Given the description of an element on the screen output the (x, y) to click on. 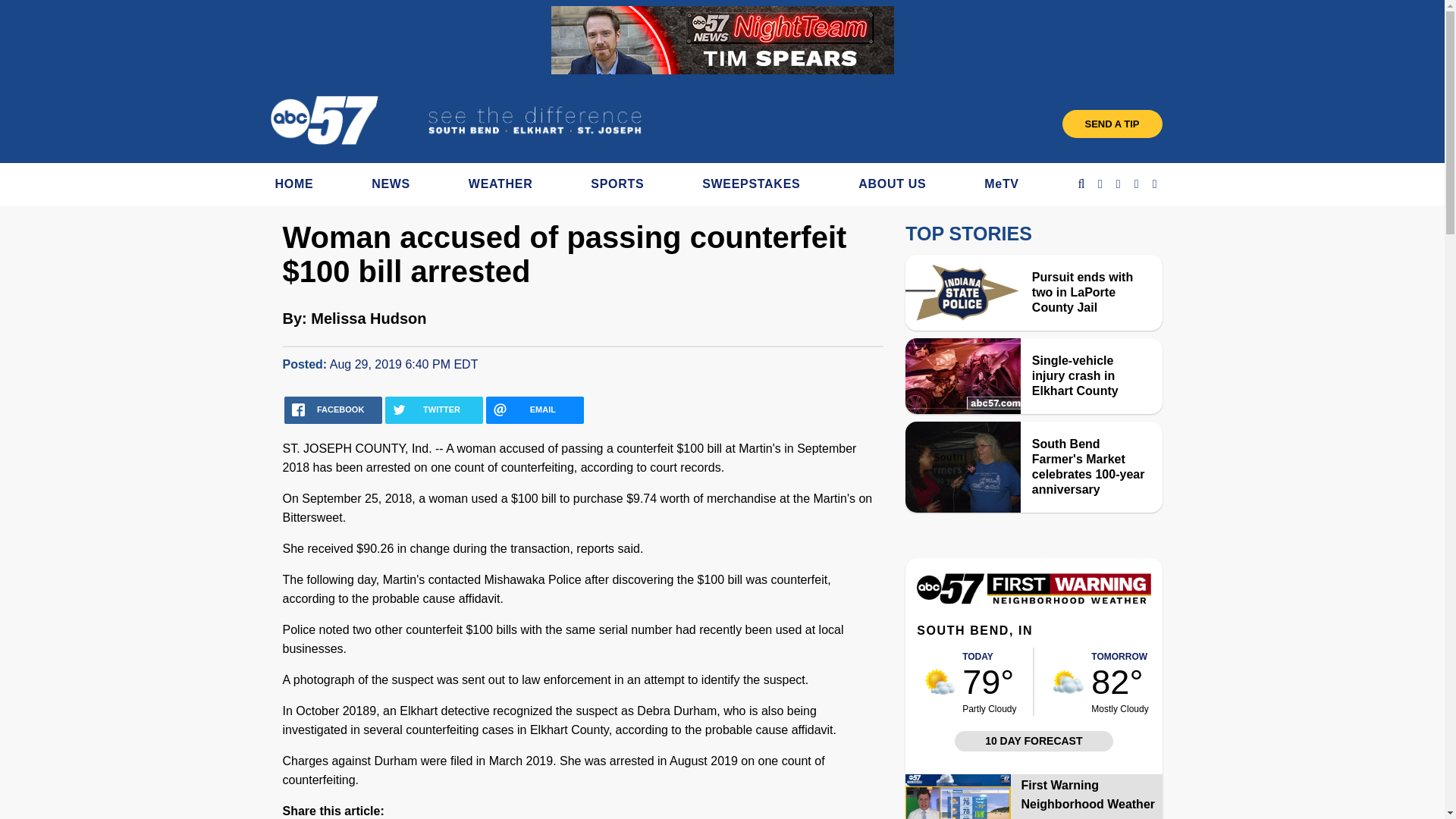
Weather (1033, 599)
weather (1067, 681)
weather (939, 681)
